Given the description of an element on the screen output the (x, y) to click on. 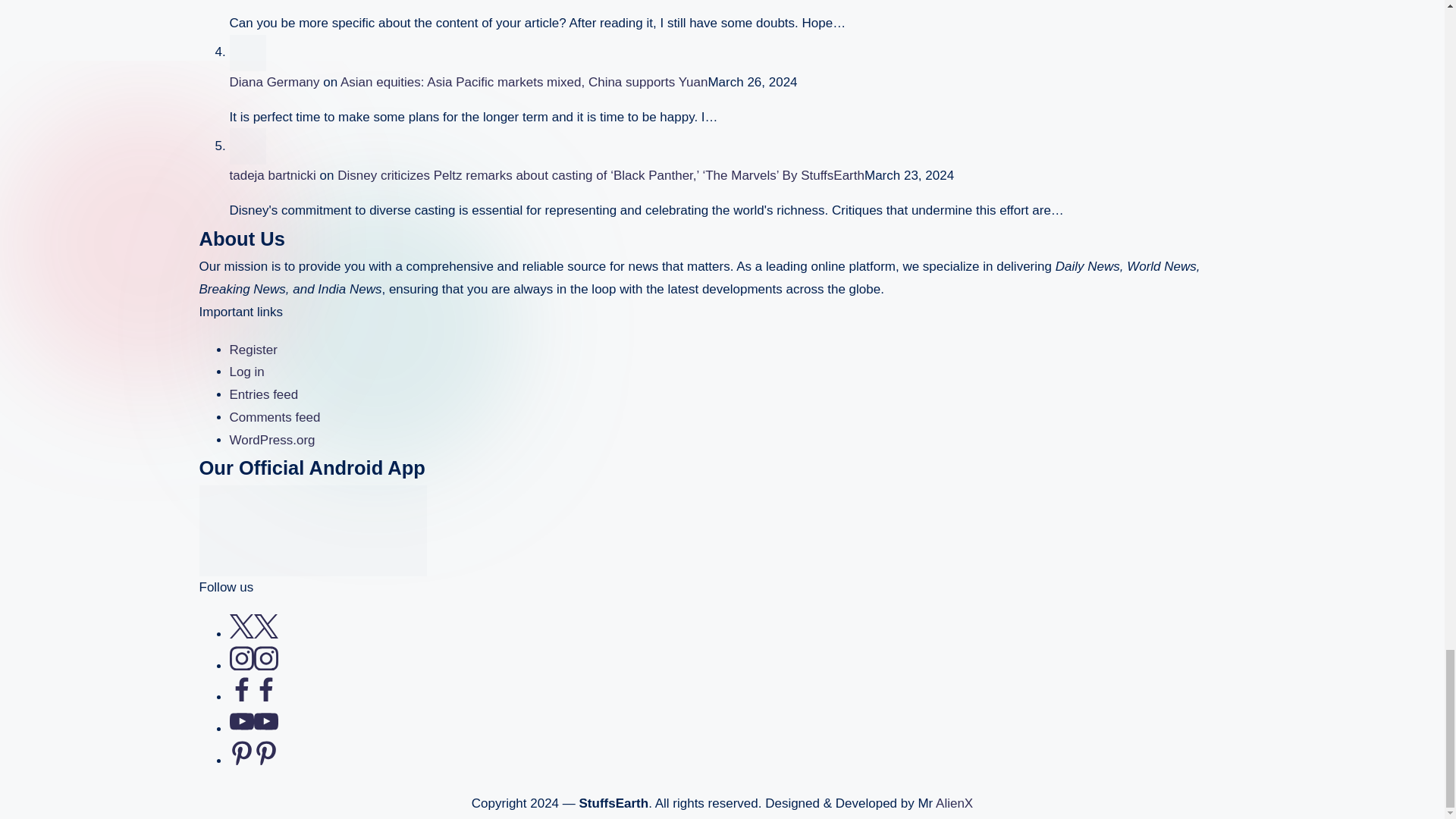
Instagram (253, 666)
Youtube (253, 728)
Pinterest (253, 760)
Facebook (253, 697)
Twitter (253, 634)
